Given the description of an element on the screen output the (x, y) to click on. 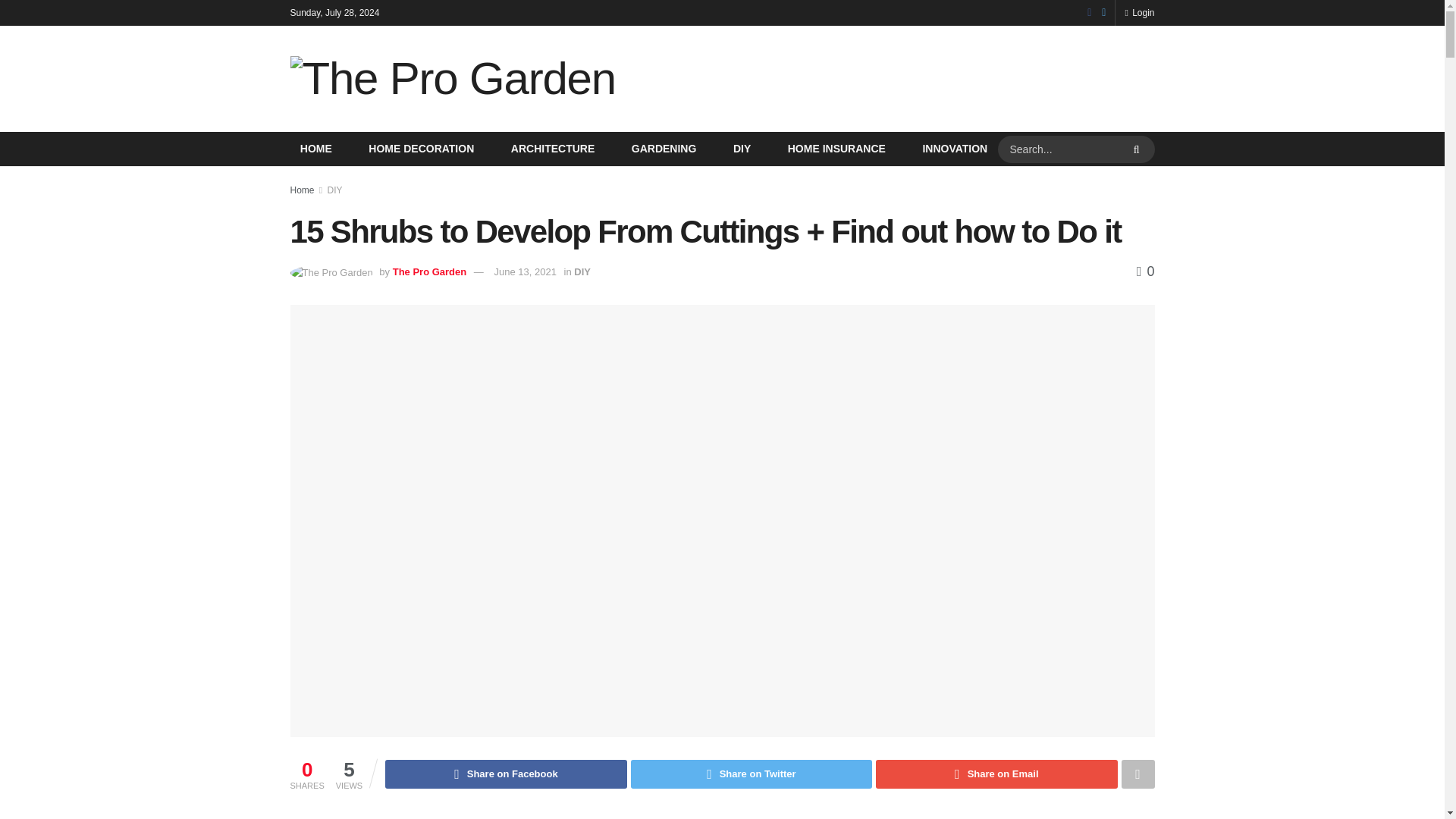
GARDENING (664, 148)
DIY (742, 148)
Home (301, 190)
ARCHITECTURE (552, 148)
HOME (315, 148)
0 (1145, 271)
Share on Email (996, 774)
The Pro Garden (430, 271)
HOME DECORATION (421, 148)
Share on Twitter (751, 774)
June 13, 2021 (524, 271)
DIY (334, 190)
DIY (582, 271)
INNOVATION (954, 148)
Share on Facebook (505, 774)
